Given the description of an element on the screen output the (x, y) to click on. 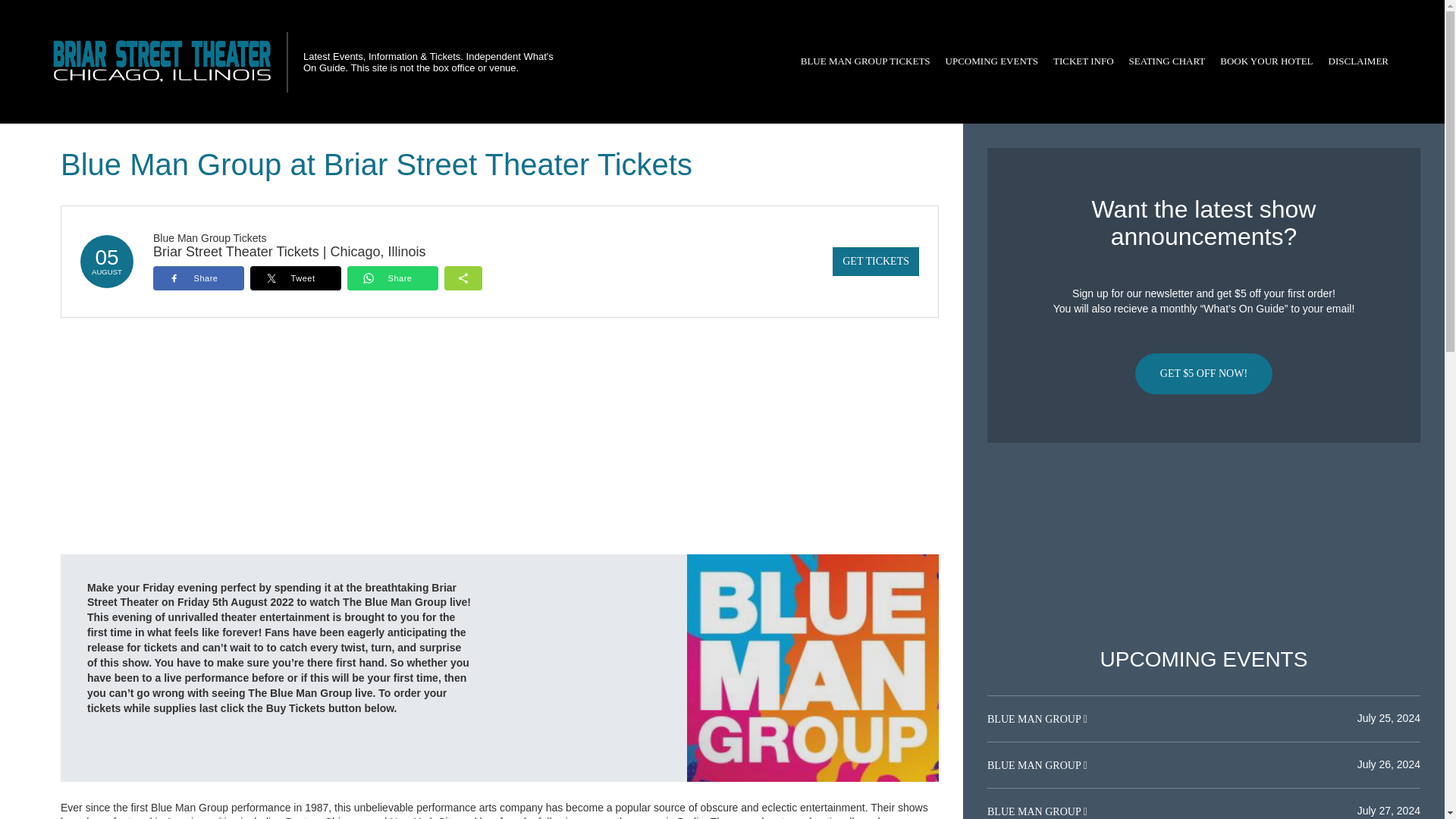
Blue Man Group Tickets (209, 237)
GET TICKETS (875, 261)
SEATING CHART (1166, 61)
BLUE MAN GROUP TICKETS (865, 61)
TICKET INFO (1083, 61)
Advertisement (1204, 545)
UPCOMING EVENTS (991, 61)
Blue Man Group at Briar Street Theater (813, 667)
DISCLAIMER (1358, 61)
BOOK YOUR HOTEL (1266, 61)
